Given the description of an element on the screen output the (x, y) to click on. 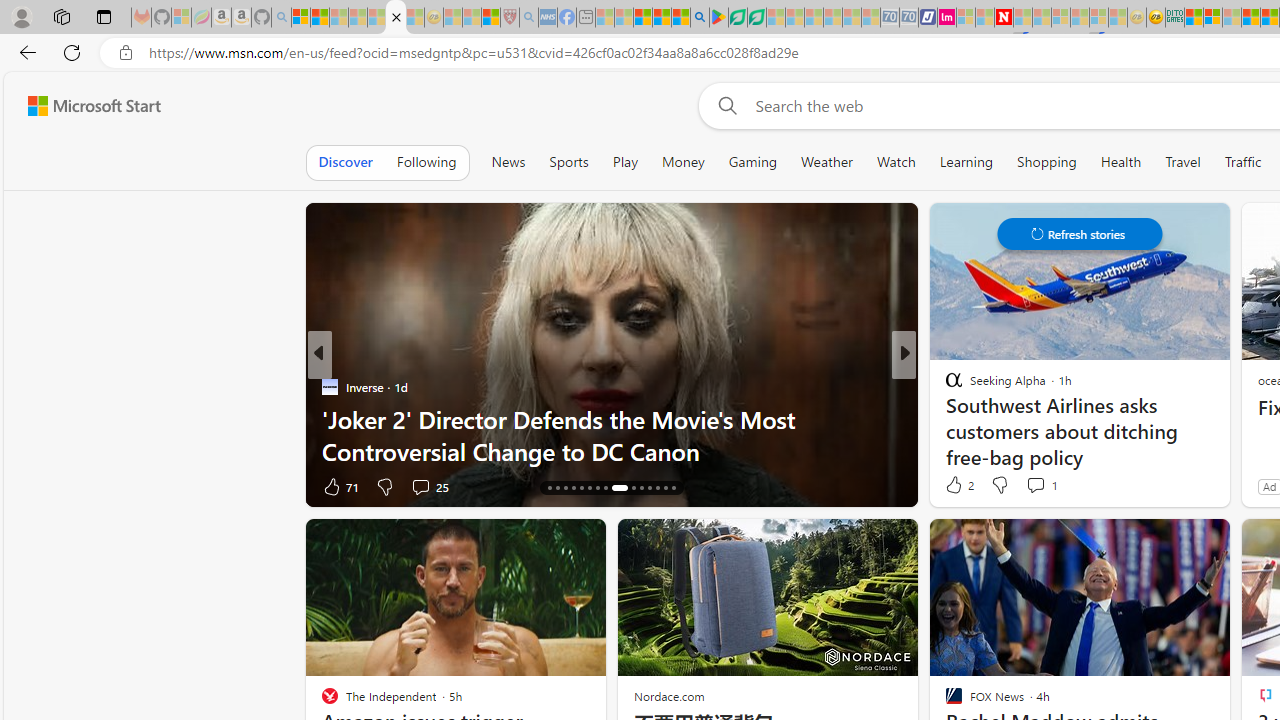
51 Like (956, 486)
Web search (724, 105)
View comments 20 Comment (1051, 486)
Pets - MSN (661, 17)
Latest Politics News & Archive | Newsweek.com (1003, 17)
20 Like (340, 486)
AutomationID: tab-22 (596, 487)
Ad (1269, 486)
Microsoft account | Privacy (1213, 17)
